Given the description of an element on the screen output the (x, y) to click on. 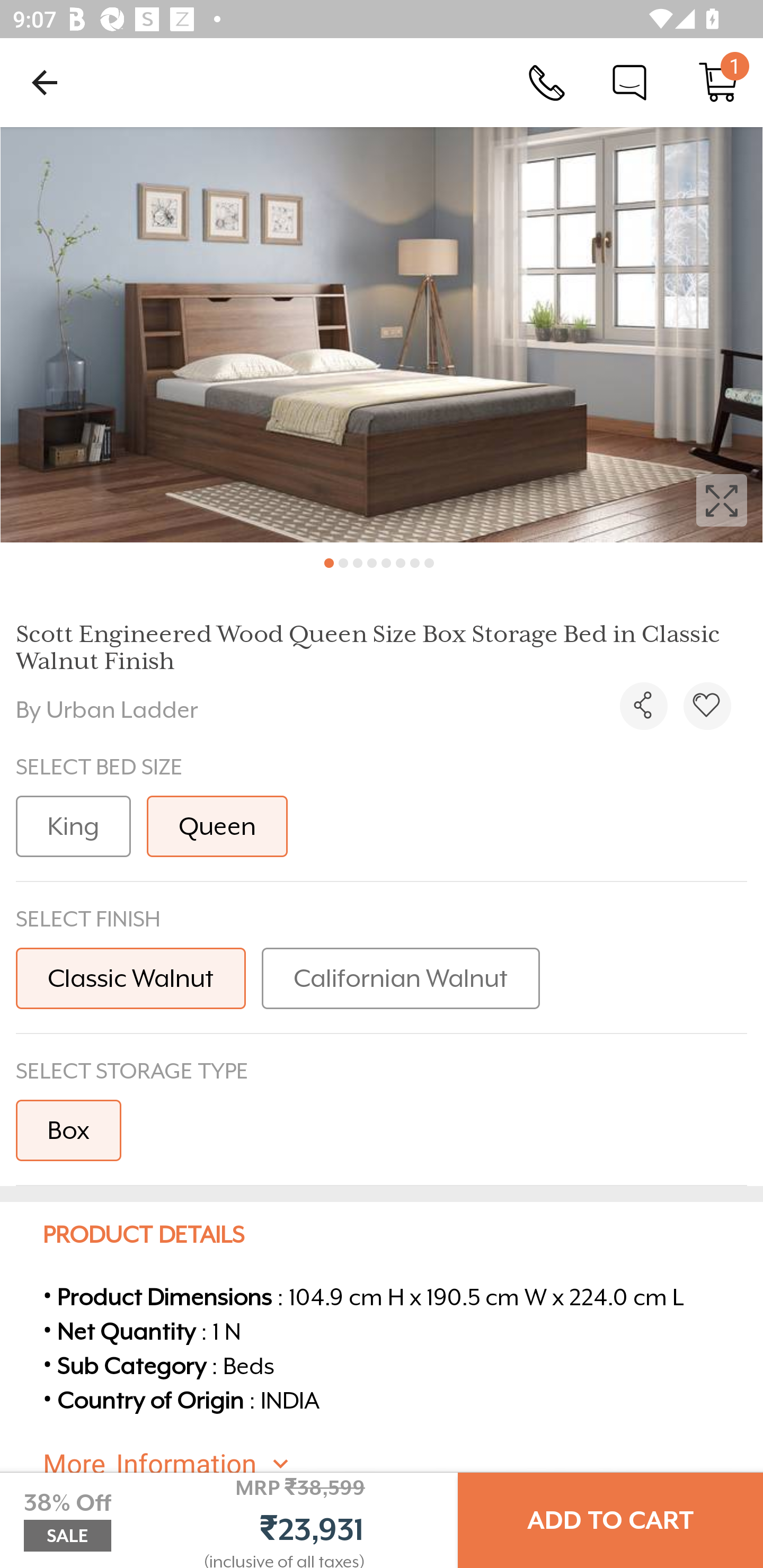
Navigate up (44, 82)
Call Us (546, 81)
Chat (629, 81)
Cart (718, 81)
 (381, 334)
 (643, 706)
 (706, 706)
King (73, 825)
Queen (216, 825)
Classic Walnut (130, 978)
Californian Walnut (400, 978)
Box (68, 1130)
More Information  (396, 1464)
ADD TO CART (610, 1520)
